Given the description of an element on the screen output the (x, y) to click on. 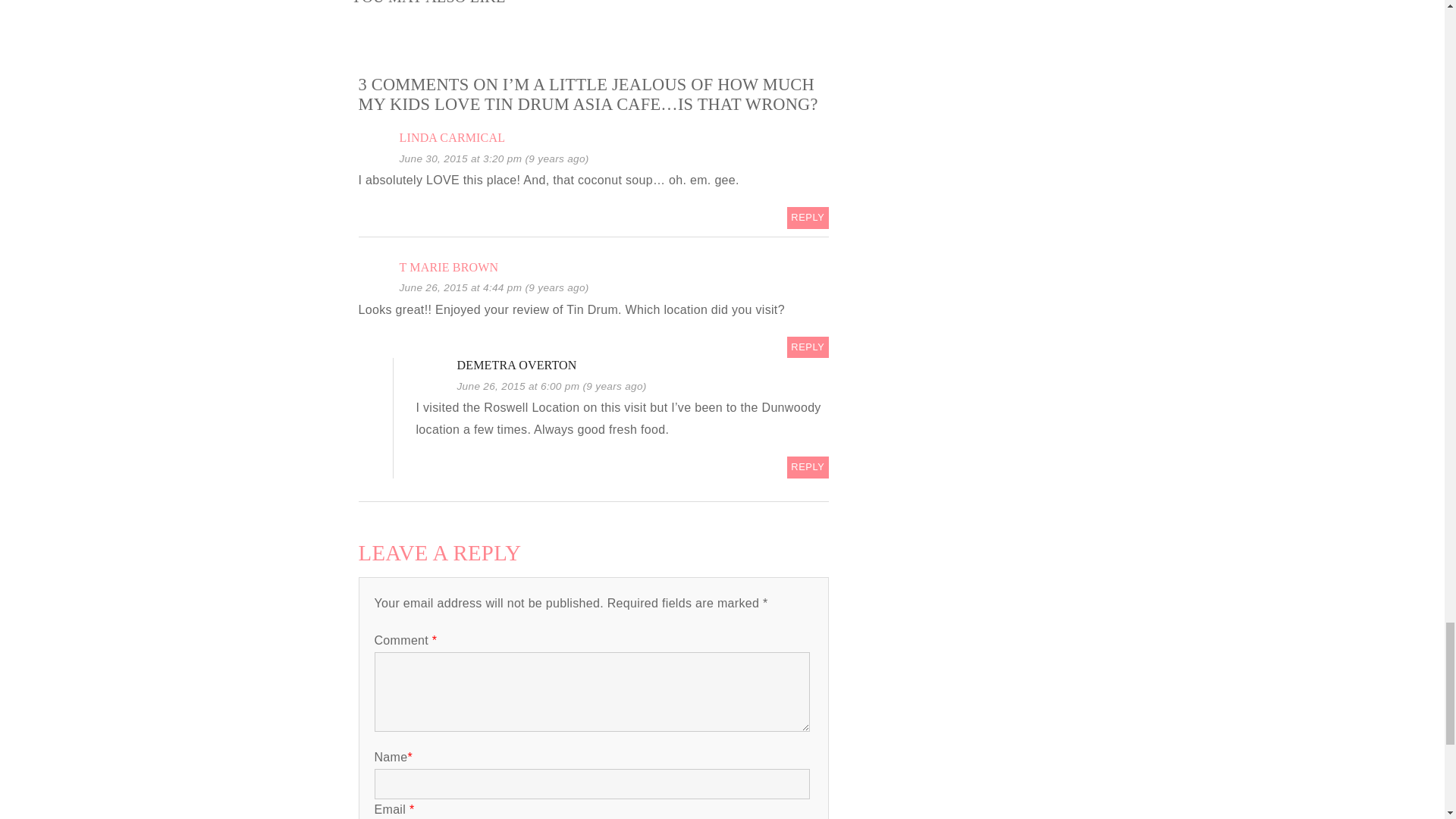
LINDA CARMICAL (451, 137)
REPLY (807, 218)
REPLY (807, 467)
T MARIE BROWN (447, 267)
REPLY (807, 347)
